Given the description of an element on the screen output the (x, y) to click on. 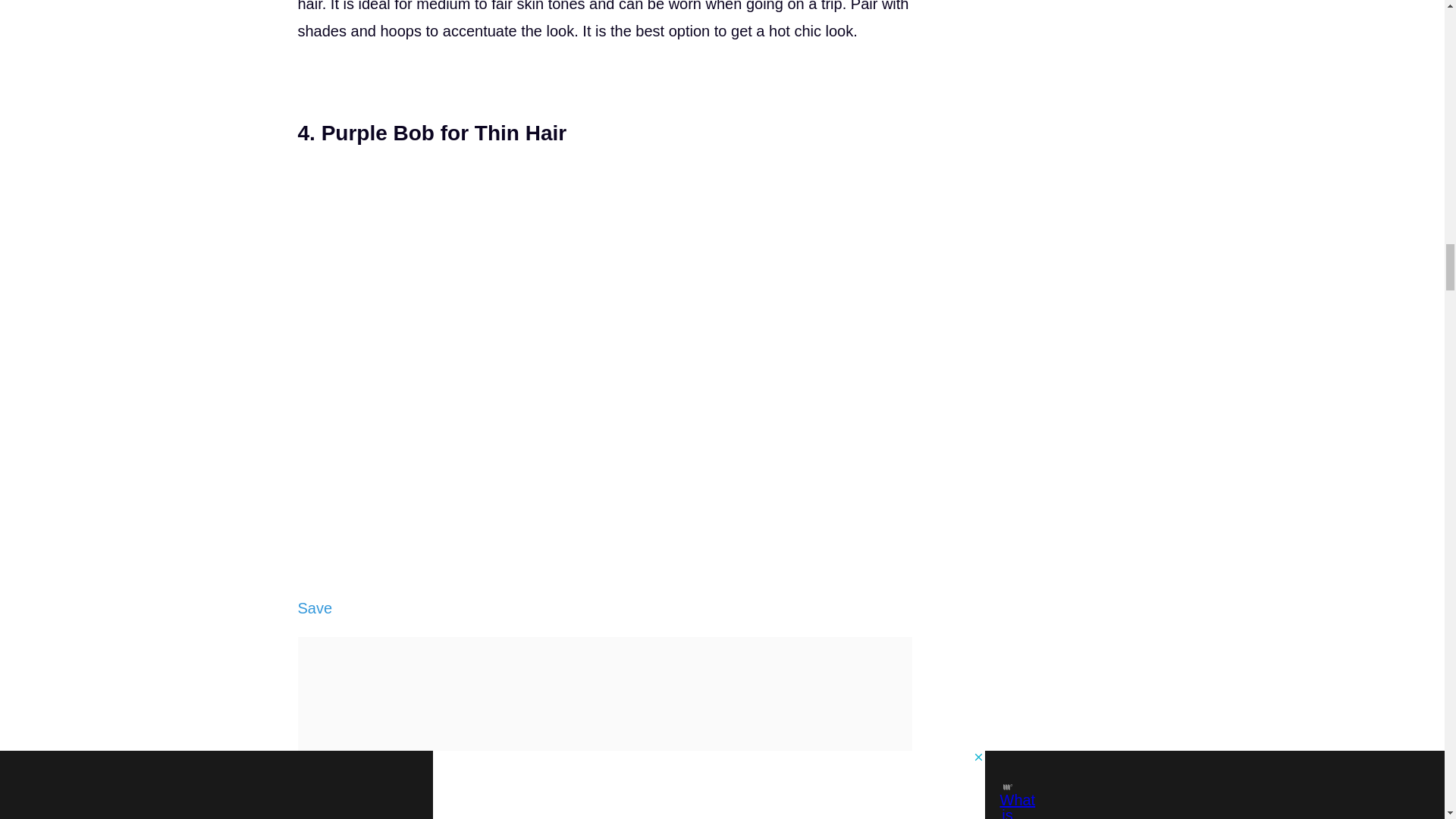
Save (314, 607)
